Given the description of an element on the screen output the (x, y) to click on. 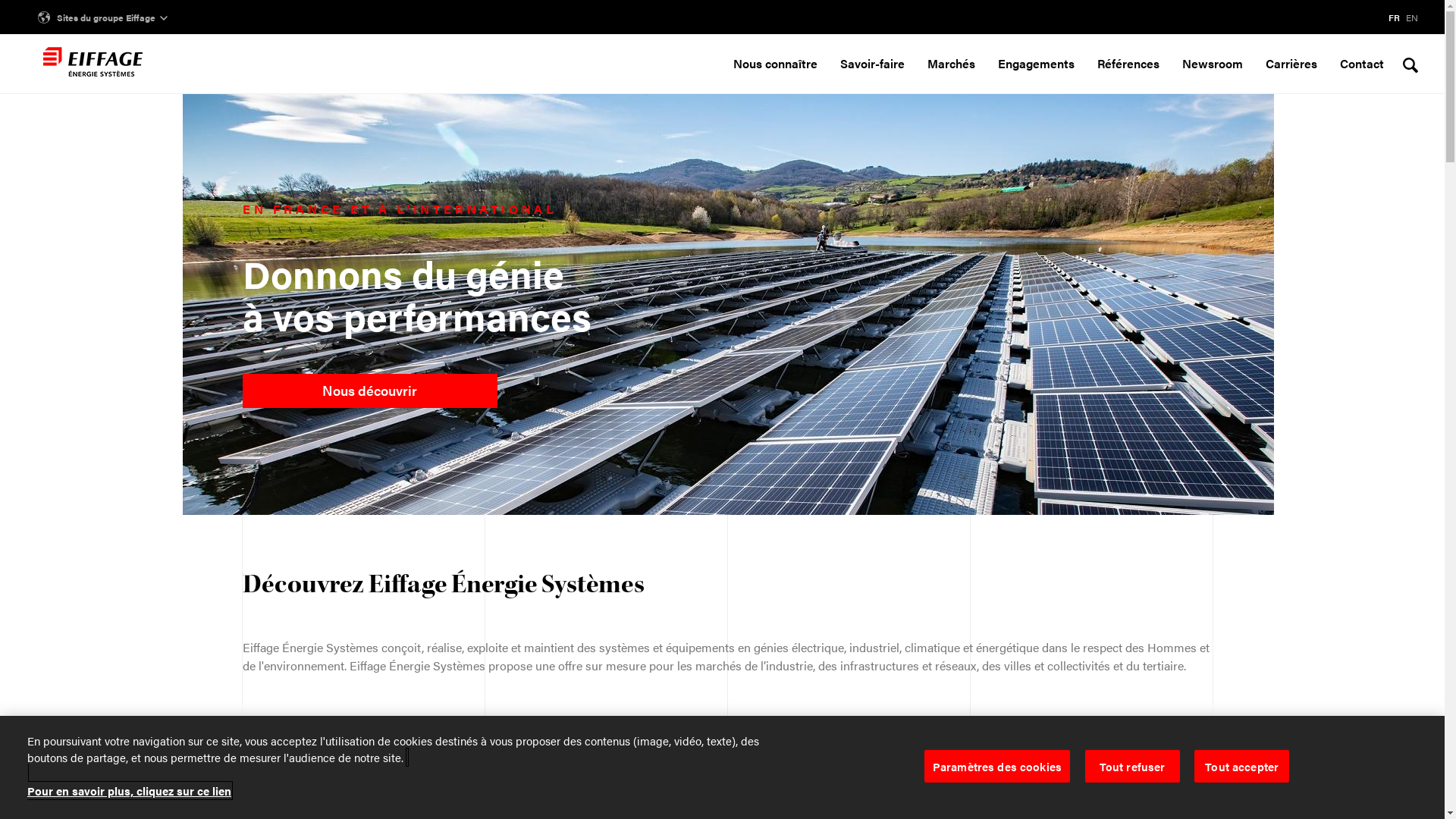
Tout accepter Element type: text (1241, 765)
Contact Element type: text (1361, 74)
Tout refuser Element type: text (1132, 765)
FR
EN Element type: text (1383, 17)
Newsroom Element type: text (1212, 74)
Savoir-faire Element type: text (872, 74)
Sites du groupe Eiffage Element type: text (102, 17)
EN Element type: text (1411, 17)
Engagements Element type: text (1035, 74)
